Given the description of an element on the screen output the (x, y) to click on. 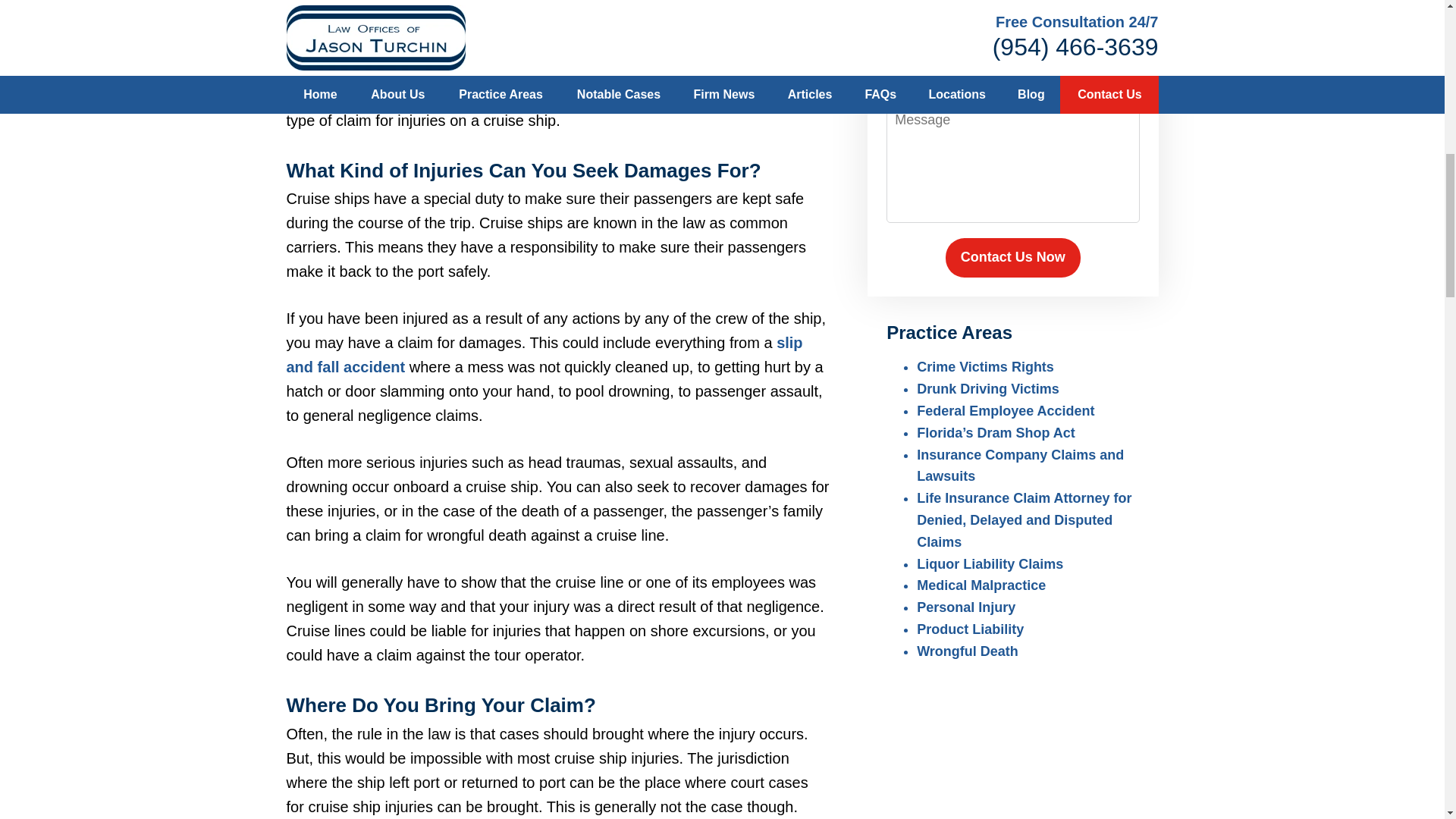
slip and fall accident (544, 354)
Contact Us Now (1012, 257)
